Given the description of an element on the screen output the (x, y) to click on. 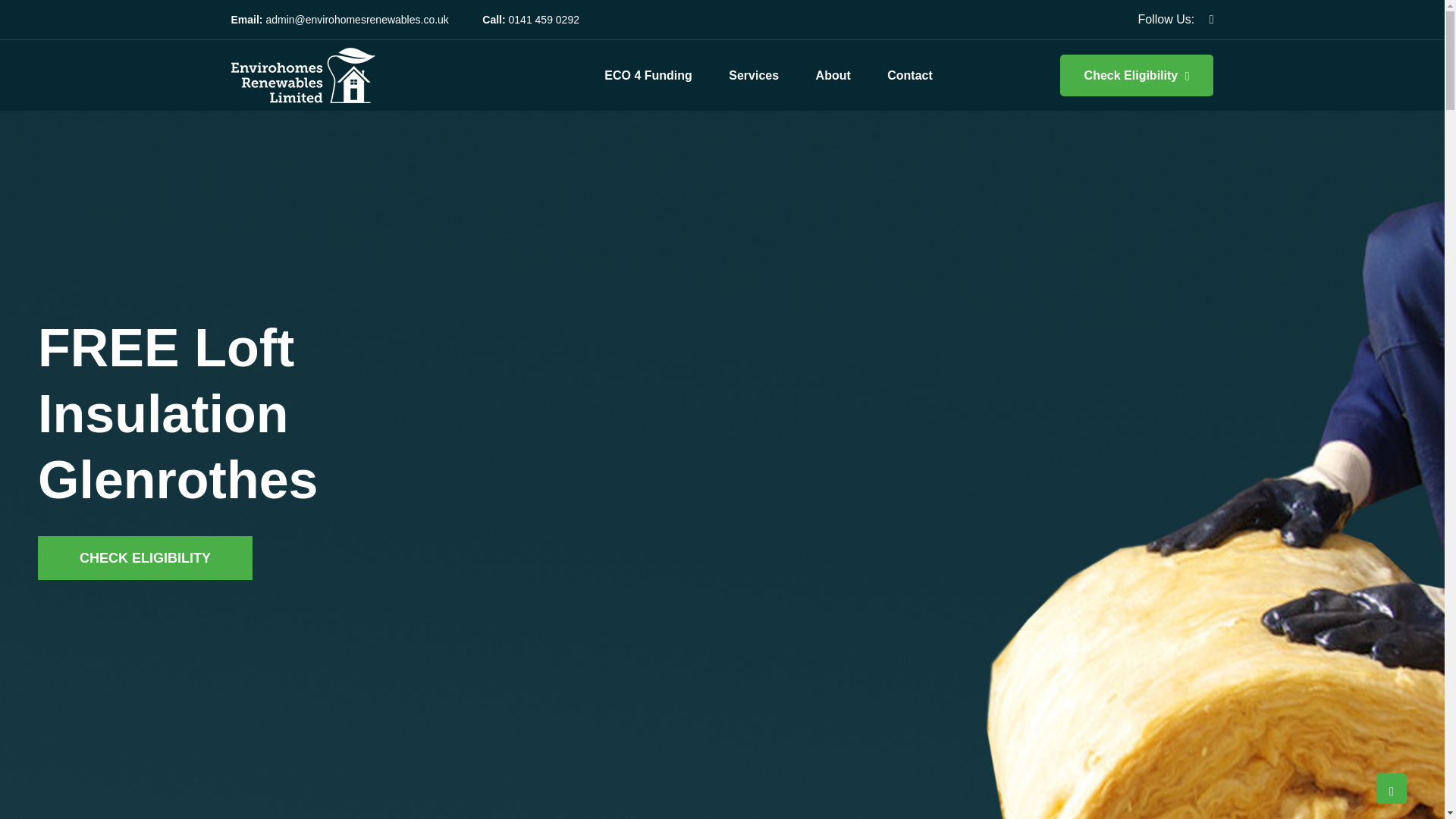
ECO 4 Funding (648, 75)
0141 459 0292 (543, 19)
190-eh-logo-white (302, 75)
